Given the description of an element on the screen output the (x, y) to click on. 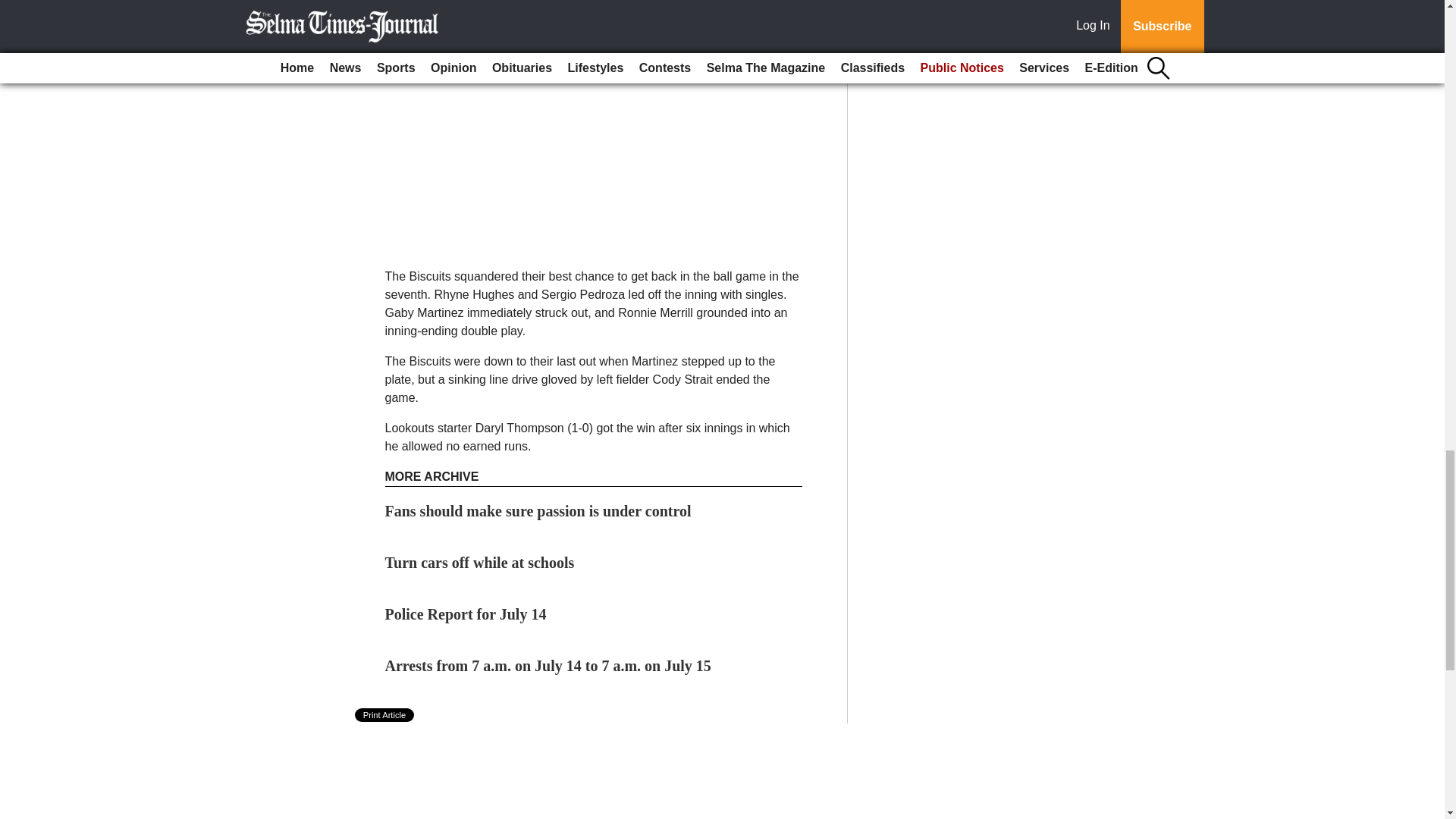
Turn cars off while at schools (480, 562)
Police Report for July 14 (466, 614)
Fans should make sure passion is under control (538, 510)
Police Report for July 14 (466, 614)
Arrests from 7 a.m. on July 14 to 7 a.m. on July 15 (548, 665)
Print Article (384, 714)
Fans should make sure passion is under control (538, 510)
Arrests from 7 a.m. on July 14 to 7 a.m. on July 15 (548, 665)
Turn cars off while at schools (480, 562)
